Given the description of an element on the screen output the (x, y) to click on. 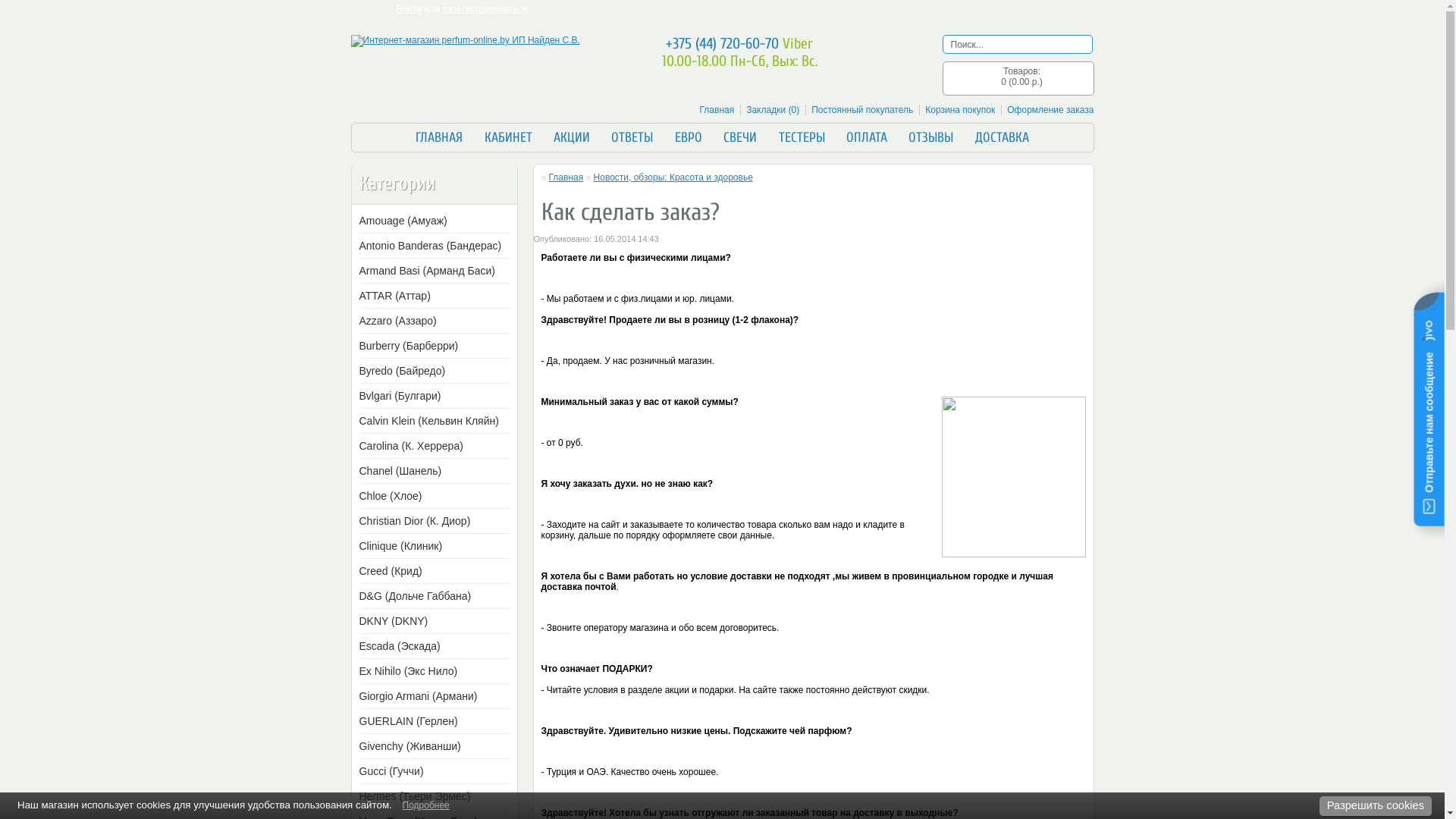
DKNY (DKNY) Element type: text (431, 621)
